Given the description of an element on the screen output the (x, y) to click on. 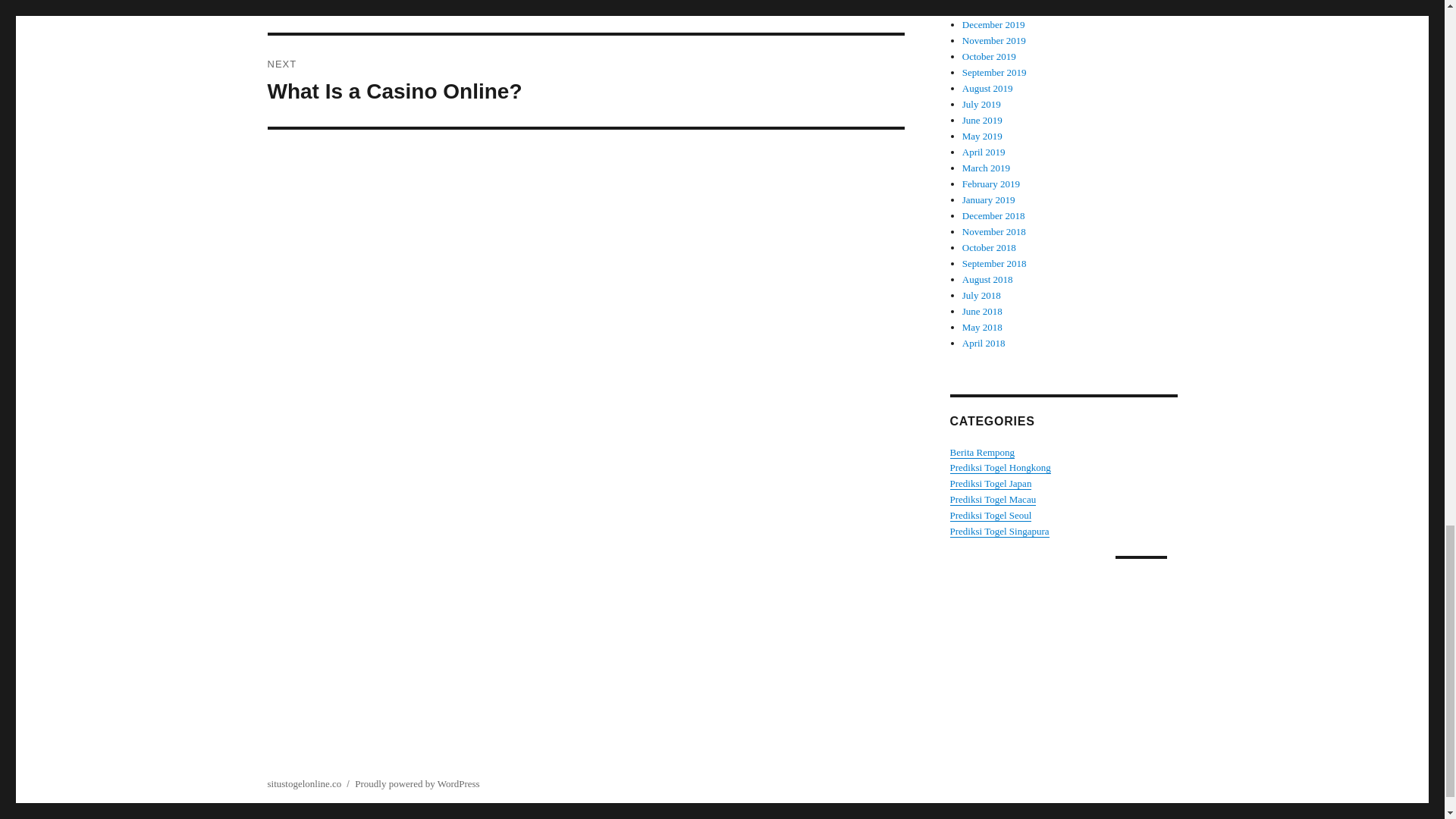
Prediksi Togel Japan (989, 482)
Prediksi Togel Seoul (989, 514)
Prediksi Togel Hongkong (999, 467)
Berita Rempong (981, 451)
Prediksi Togel Macau (585, 16)
Prediksi Togel Singapura (992, 499)
